Given the description of an element on the screen output the (x, y) to click on. 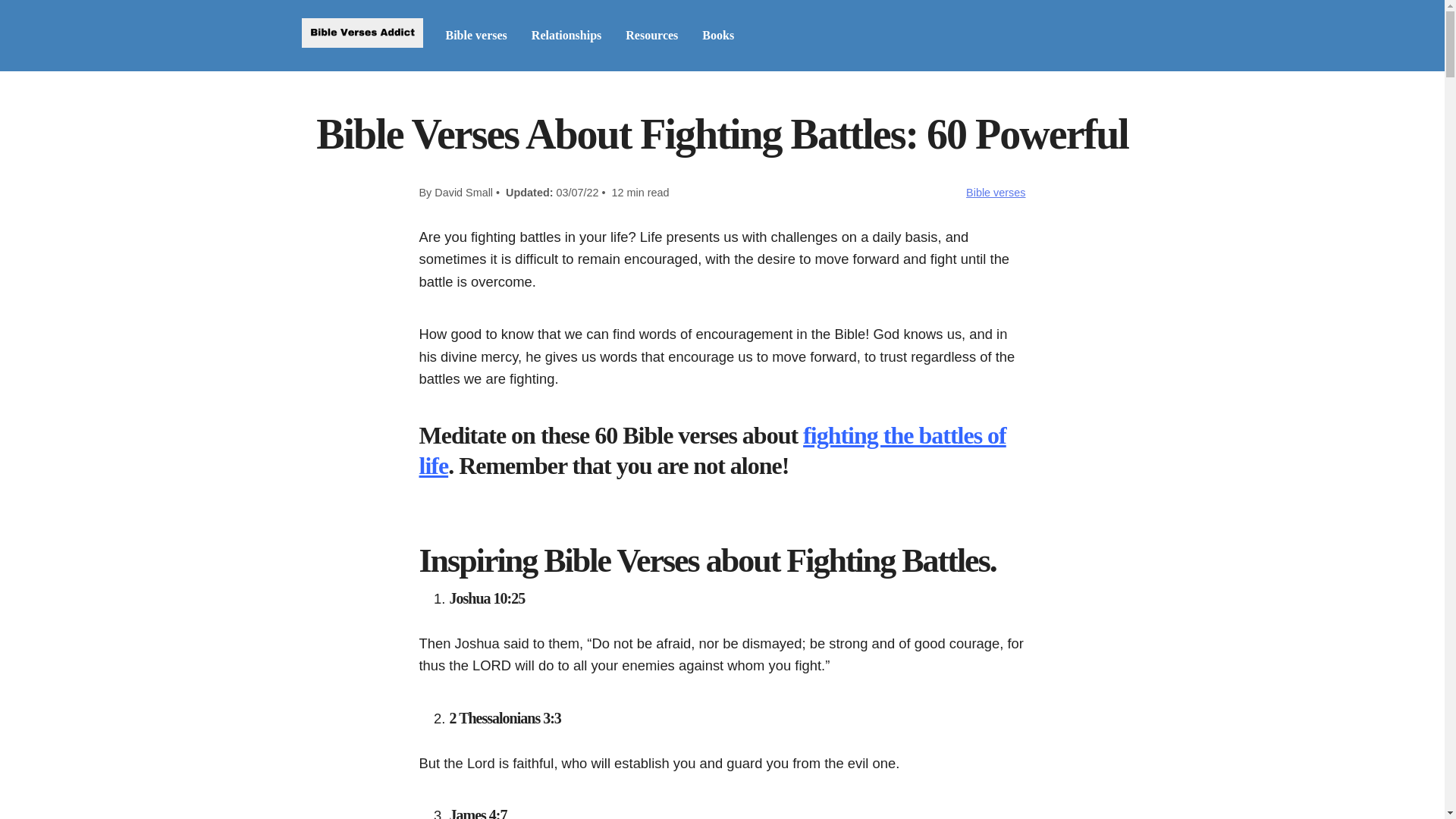
fighting the battles of life (712, 450)
Bible verses (995, 192)
Bible verses (475, 35)
Resources (652, 35)
Relationships (566, 35)
Books (717, 35)
